Given the description of an element on the screen output the (x, y) to click on. 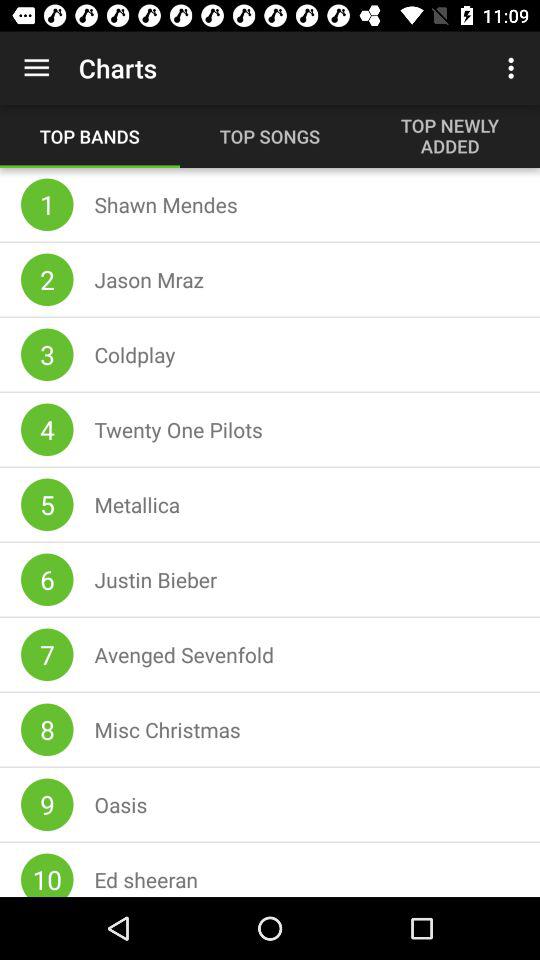
turn on icon to the left of jason mraz icon (47, 279)
